Given the description of an element on the screen output the (x, y) to click on. 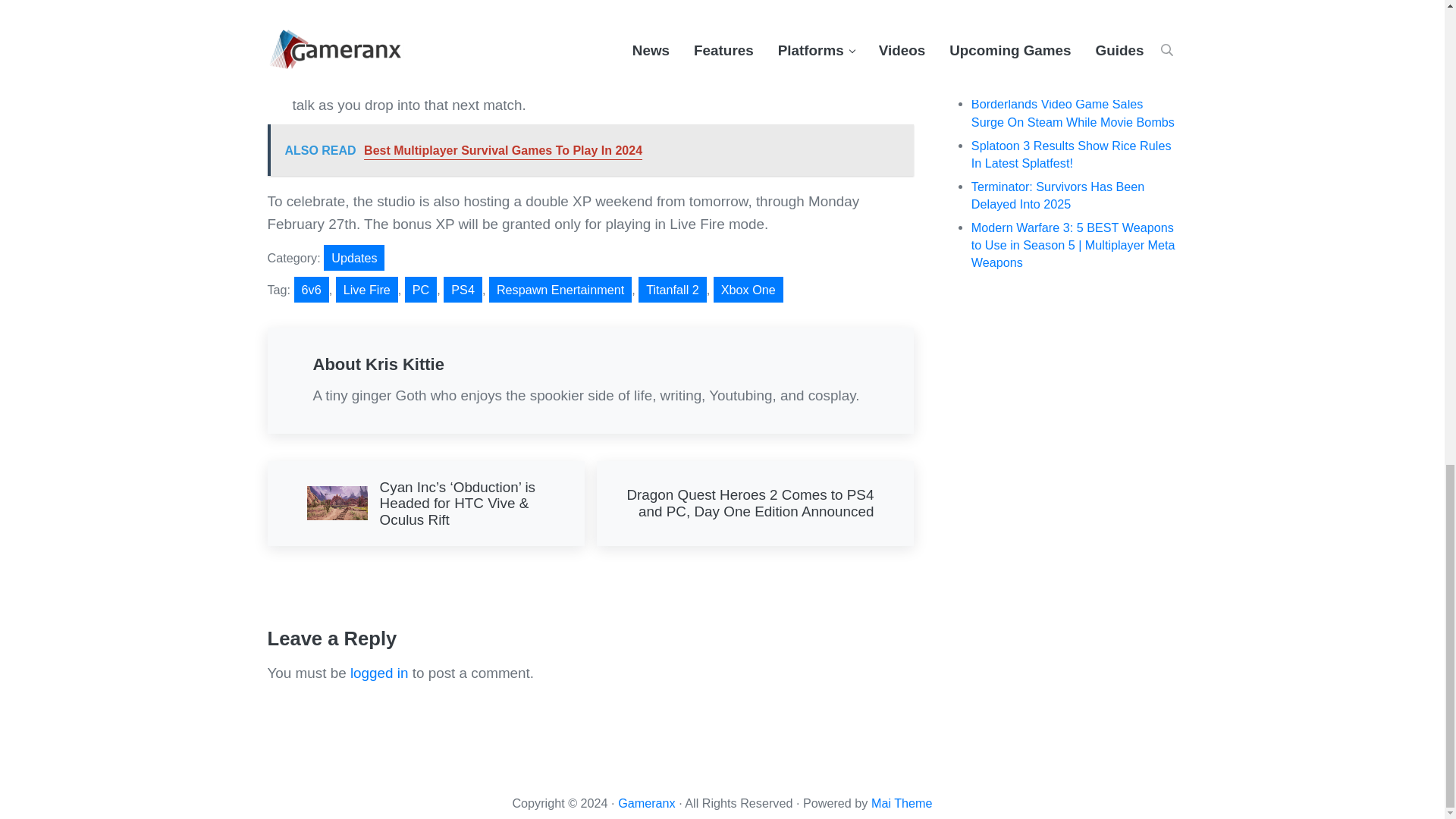
Live Fire (366, 289)
PS4 (462, 289)
Titanfall 2 (672, 289)
Updates (353, 257)
PC (421, 289)
6v6 (311, 289)
Respawn Enertainment (560, 289)
Xbox One (748, 289)
ALSO READ  Best Multiplayer Survival Games To Play In 2024 (589, 150)
